Given the description of an element on the screen output the (x, y) to click on. 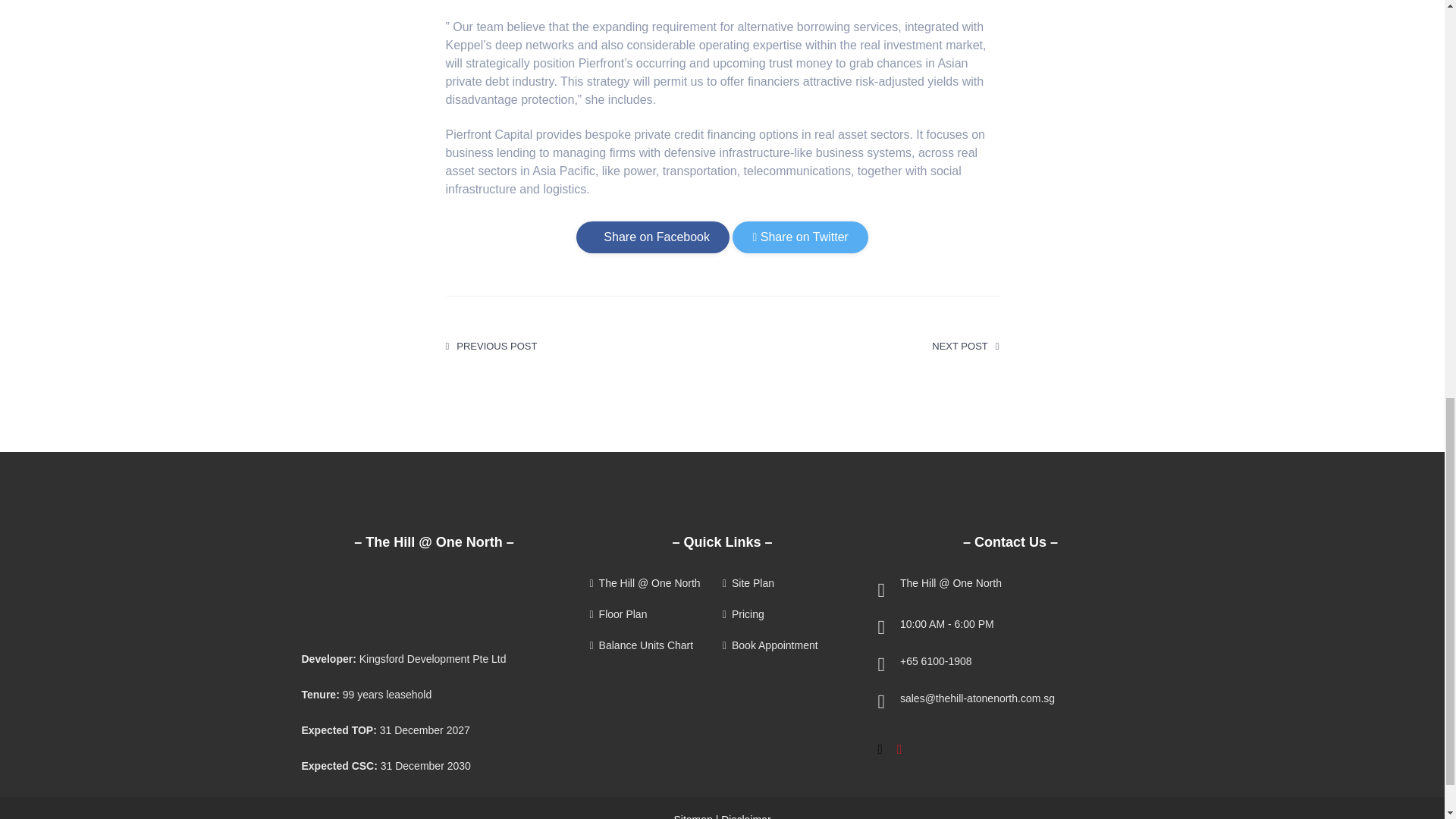
PREVIOUS POST (491, 346)
Pricing (786, 613)
Balance Units Chart (654, 644)
NEXT POST (964, 346)
Floor Plan (654, 613)
Share on Facebook (652, 237)
Site Plan (786, 583)
Share on Twitter (799, 237)
